Given the description of an element on the screen output the (x, y) to click on. 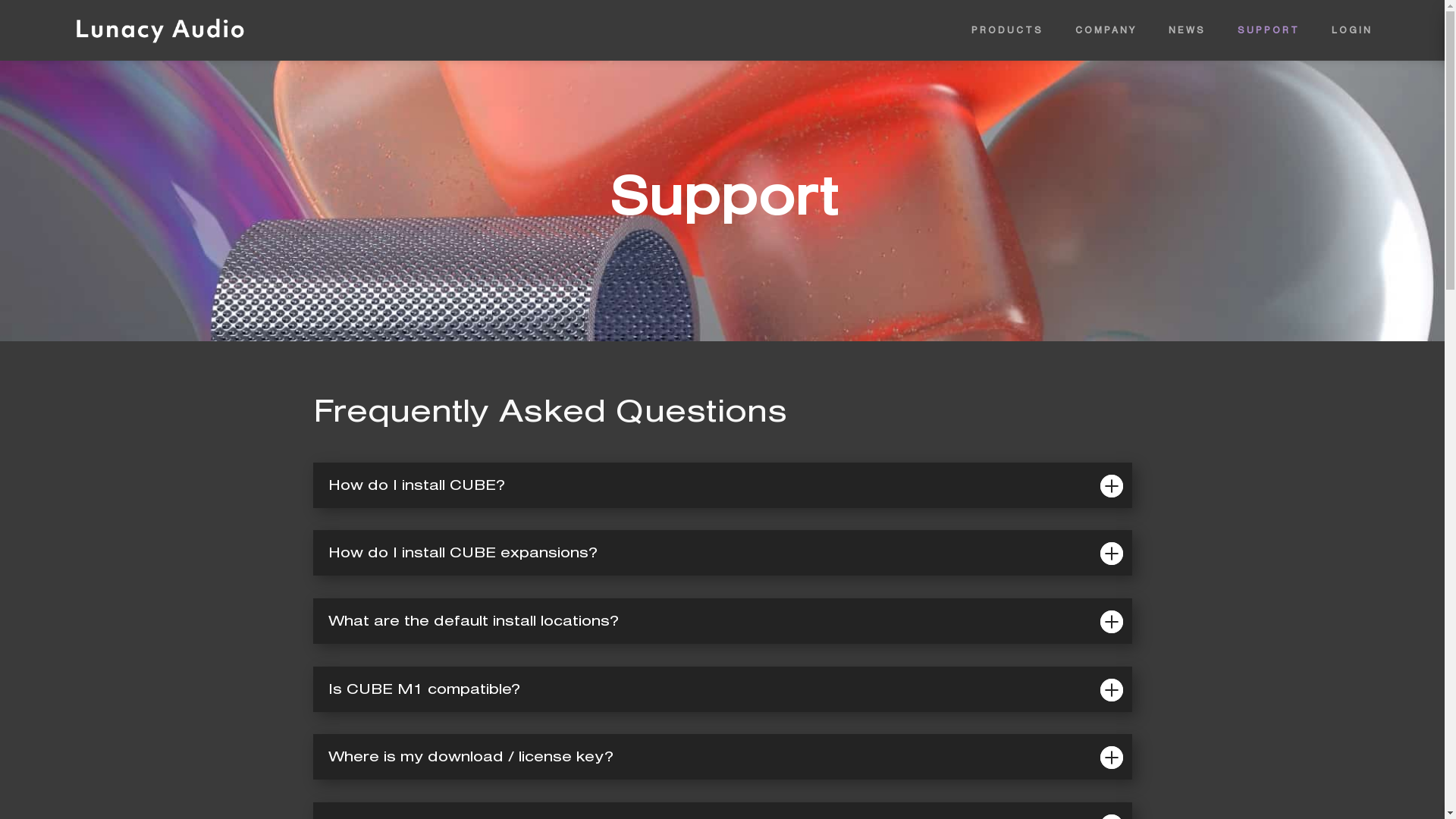
SUPPORT Element type: text (1268, 30)
NEWS Element type: text (1186, 30)
LOGIN Element type: text (1351, 30)
COMPANY Element type: text (1105, 30)
PRODUCTS Element type: text (1007, 30)
